Given the description of an element on the screen output the (x, y) to click on. 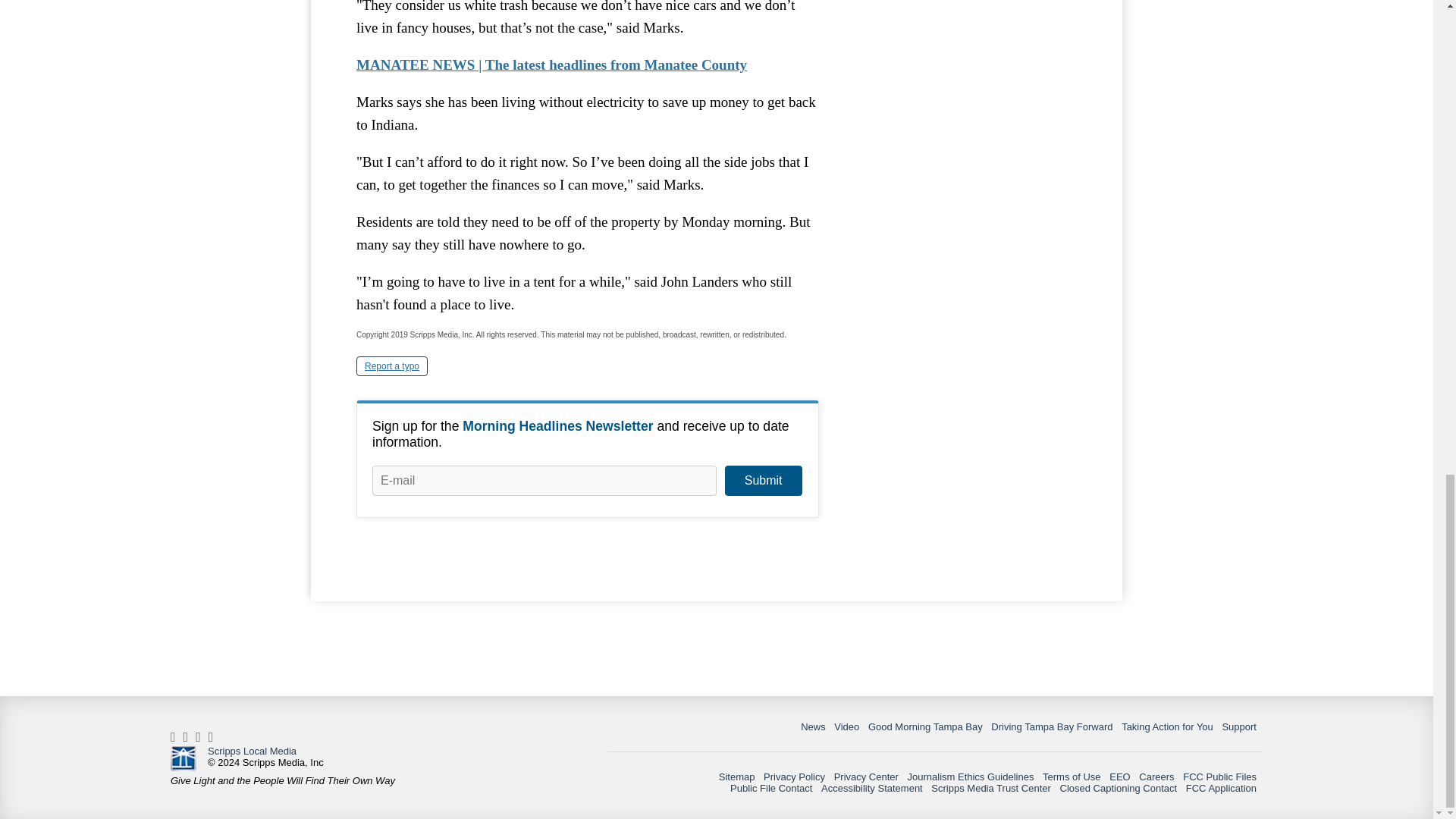
Submit (763, 481)
